Given the description of an element on the screen output the (x, y) to click on. 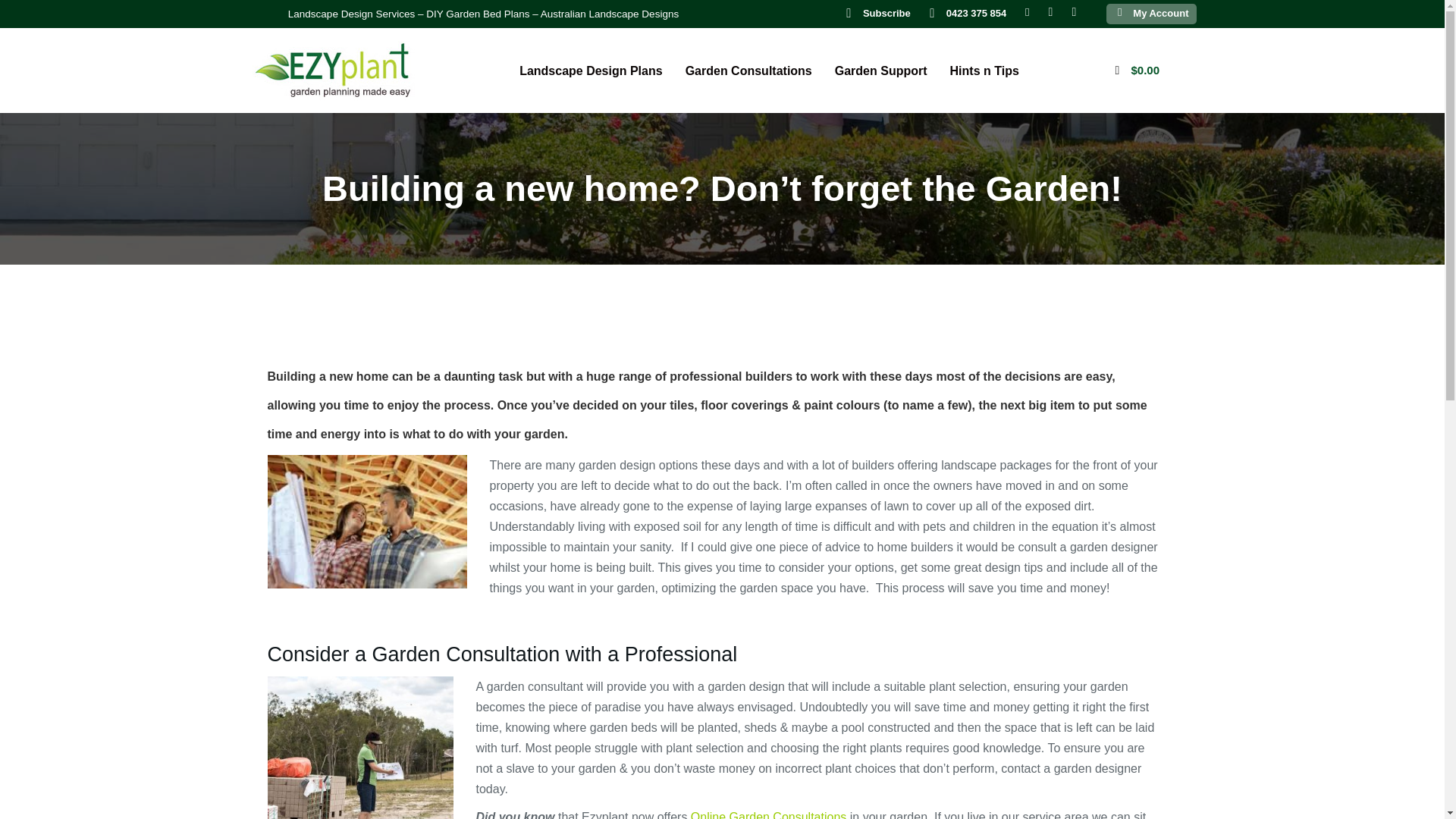
Hints n Tips (984, 70)
Subscribe (887, 12)
Landscape Design Plans (590, 70)
My Account (1160, 12)
Garden Consultations (748, 70)
Garden Support (880, 70)
0423 375 854 (976, 12)
